Given the description of an element on the screen output the (x, y) to click on. 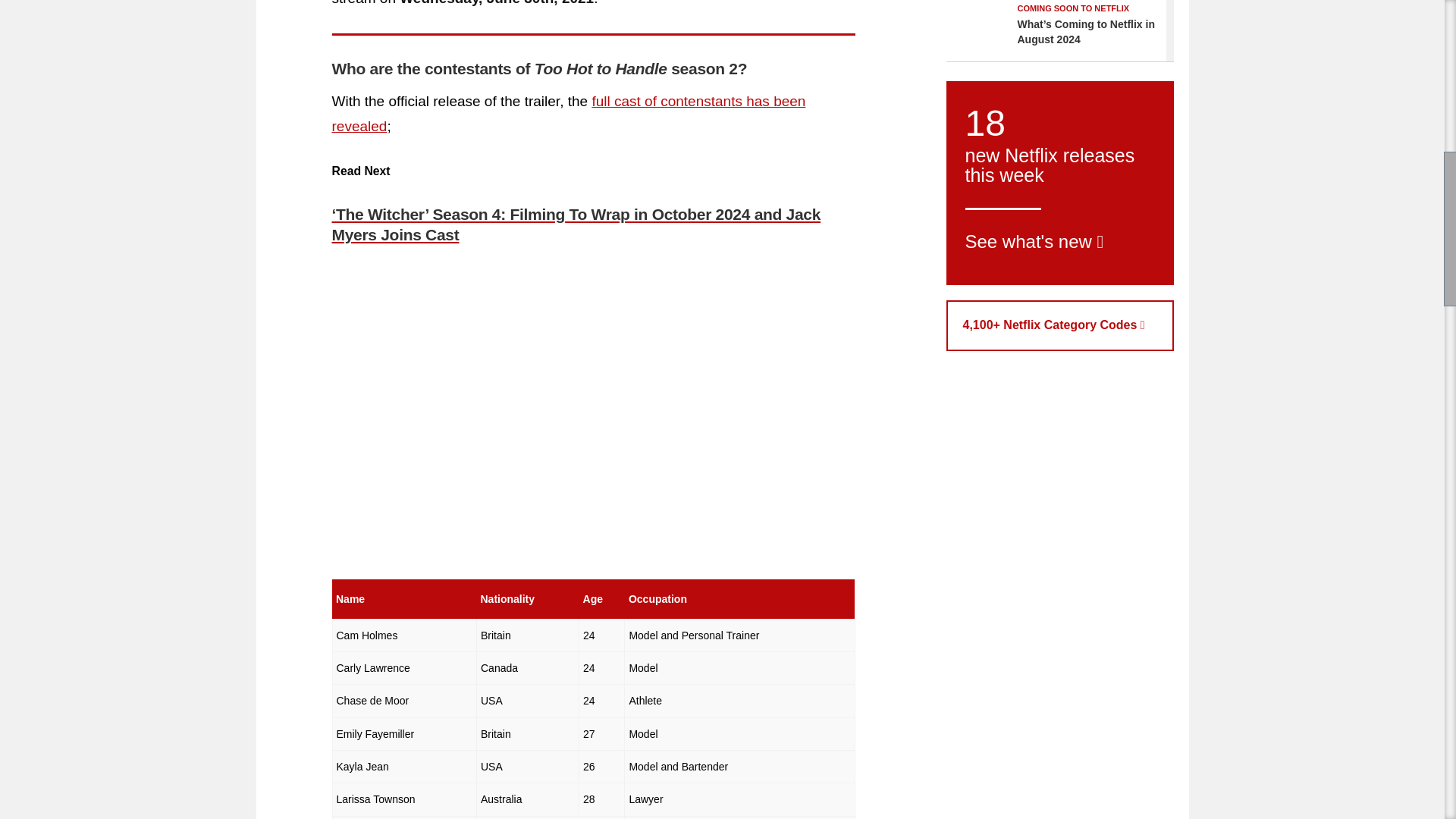
full cast of contenstants has been revealed (568, 113)
